Given the description of an element on the screen output the (x, y) to click on. 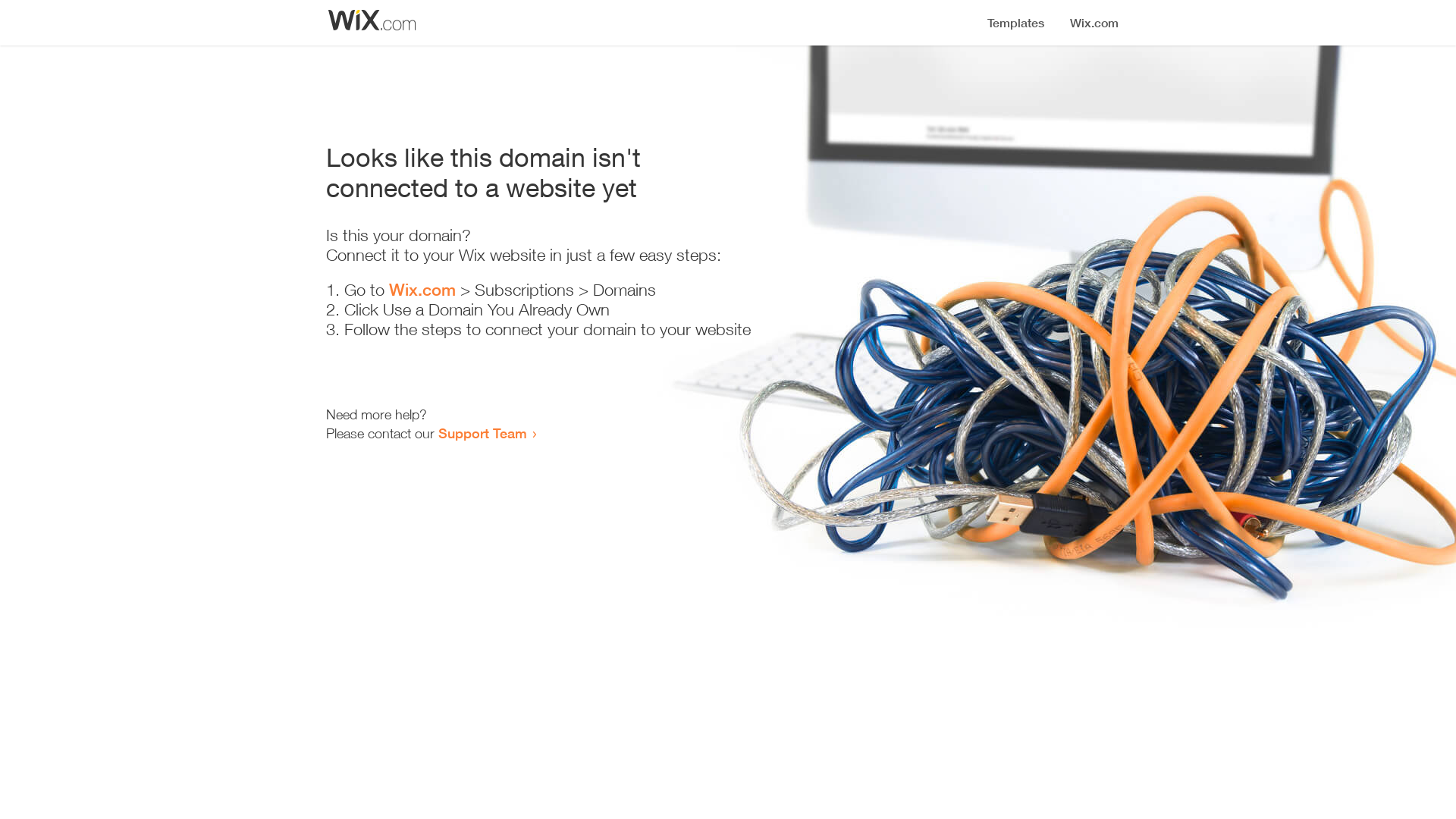
Wix.com Element type: text (422, 289)
Support Team Element type: text (482, 432)
